Given the description of an element on the screen output the (x, y) to click on. 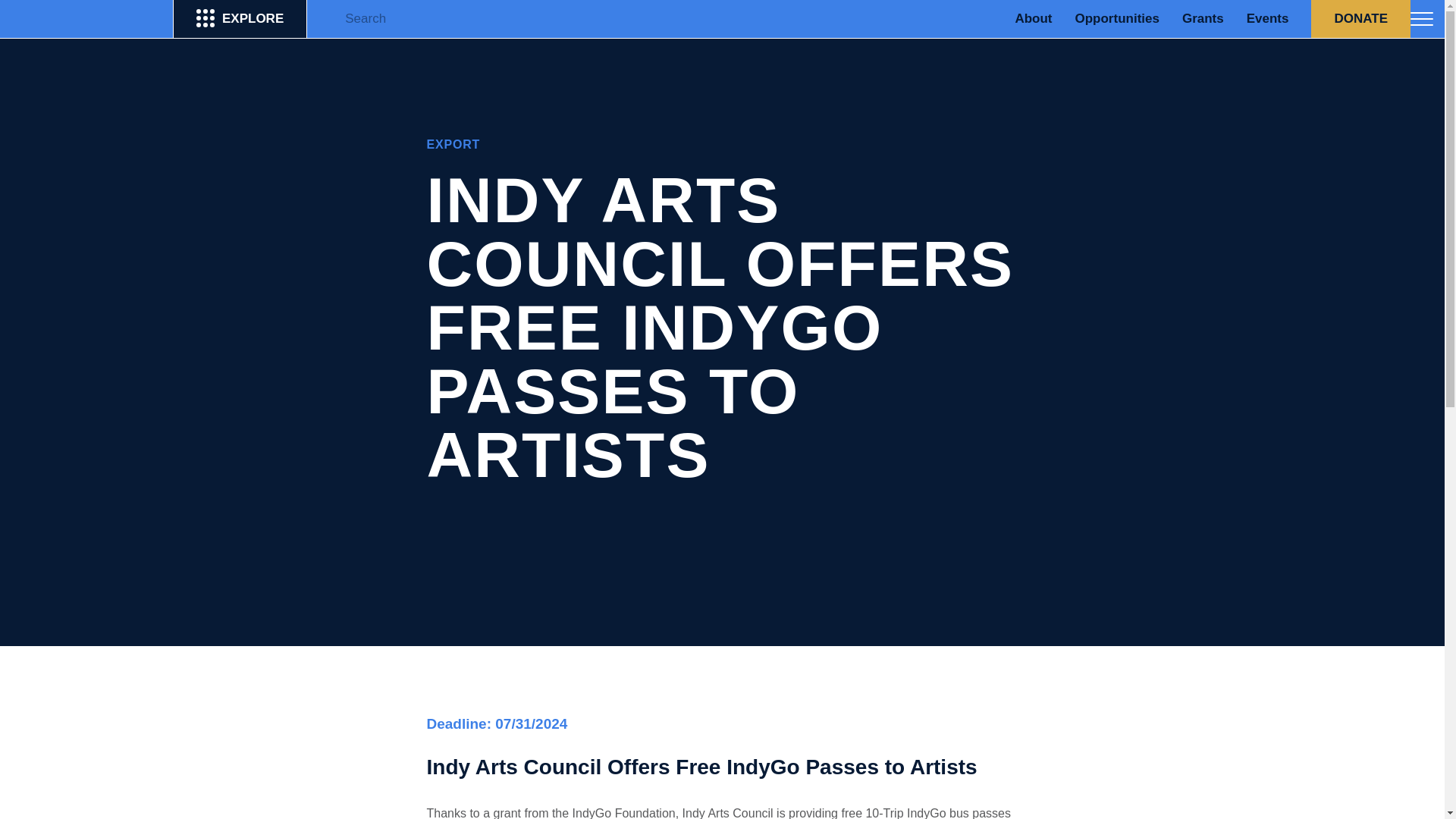
EXPLORE (240, 18)
Events (1267, 18)
DONATE (1360, 18)
Grants (1203, 18)
Opportunities (1116, 18)
About (1032, 18)
Indy Arts Council (86, 18)
